Given the description of an element on the screen output the (x, y) to click on. 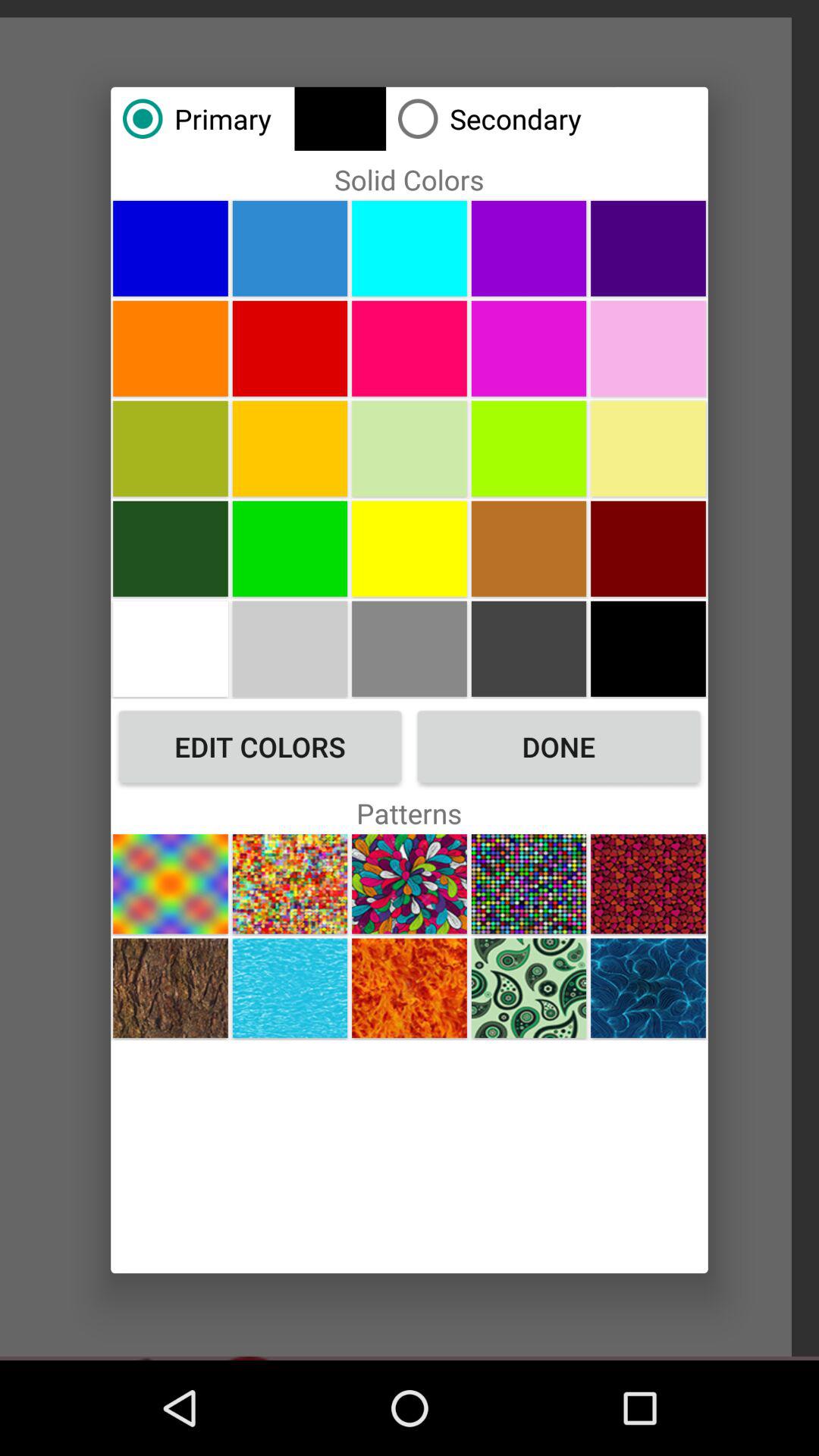
tap item below solid colors item (289, 248)
